Given the description of an element on the screen output the (x, y) to click on. 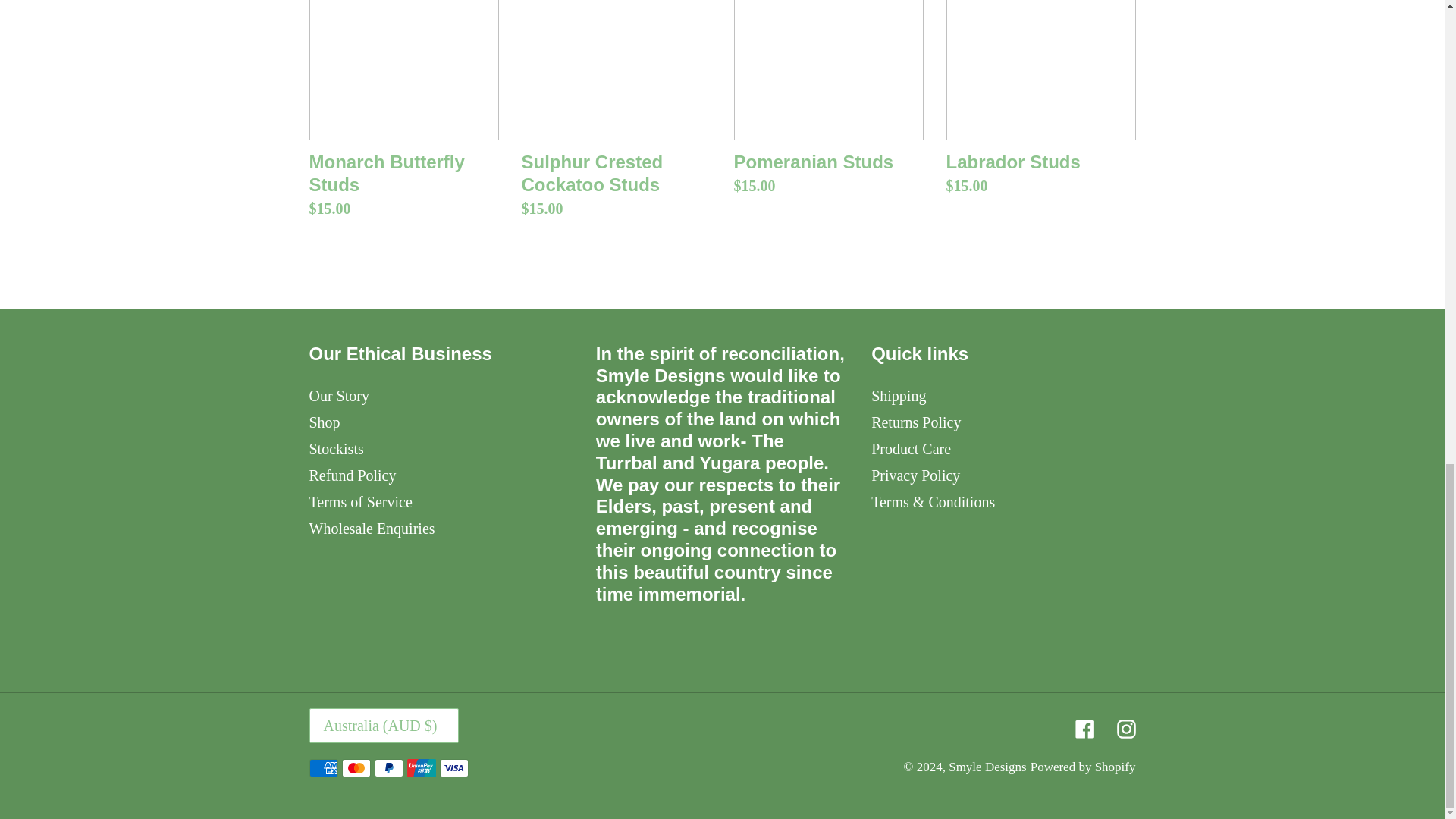
Privacy Policy (914, 475)
Shipping (898, 395)
Our Story (338, 395)
Labrador Studs (1040, 101)
Wholesale Enquiries (371, 528)
Product Care (910, 448)
Refund Policy (352, 475)
Terms of Service (360, 501)
Shop (324, 422)
Stockists (336, 448)
Returns Policy (915, 422)
Pomeranian Studs (828, 101)
